Given the description of an element on the screen output the (x, y) to click on. 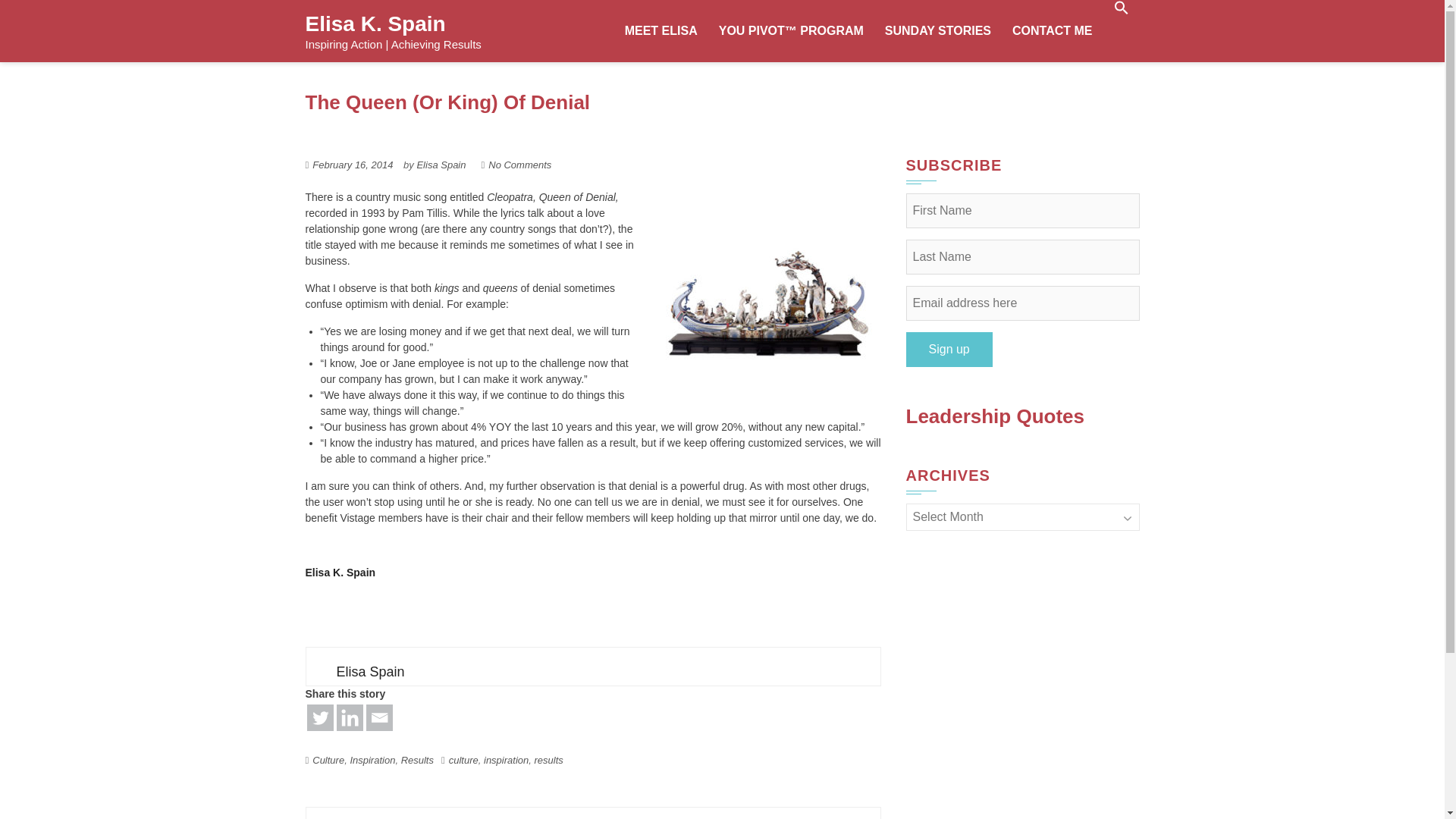
Elisa K. Spain (374, 24)
Culture (328, 759)
SUNDAY STORIES (938, 31)
Elisa Spain (440, 164)
CONTACT ME (1051, 31)
results (548, 759)
Linkedin (349, 717)
Twitter (319, 717)
Email (378, 717)
culture (463, 759)
Sign up (948, 349)
No Comments (519, 164)
MEET ELISA (660, 31)
Biography (339, 572)
inspiration (505, 759)
